Given the description of an element on the screen output the (x, y) to click on. 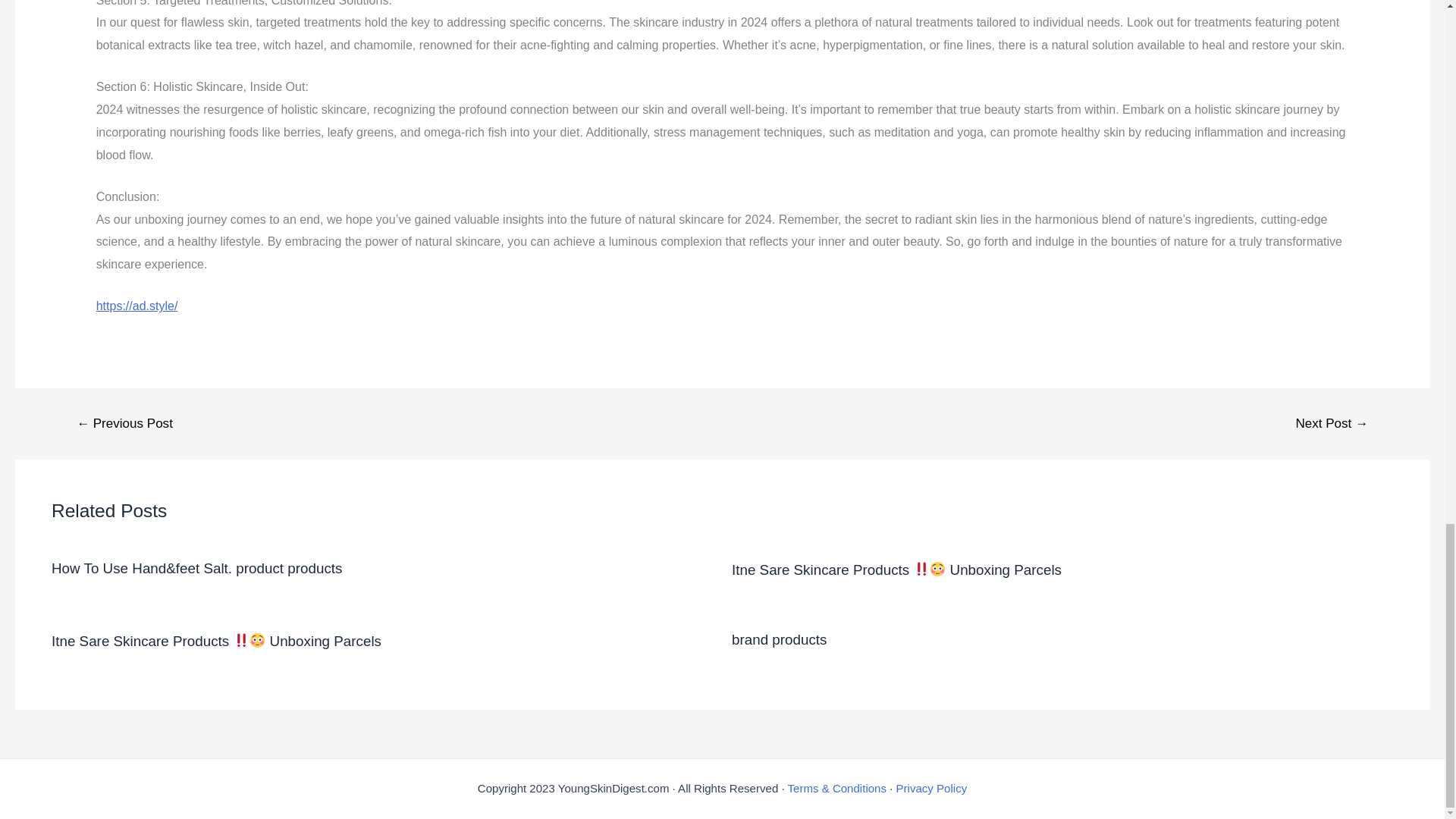
brand products (779, 639)
Itne Sare Skincare Products Unboxing Parcels (215, 641)
Itne Sare Skincare Products Unboxing Parcels (896, 569)
Privacy Policy (932, 788)
